Given the description of an element on the screen output the (x, y) to click on. 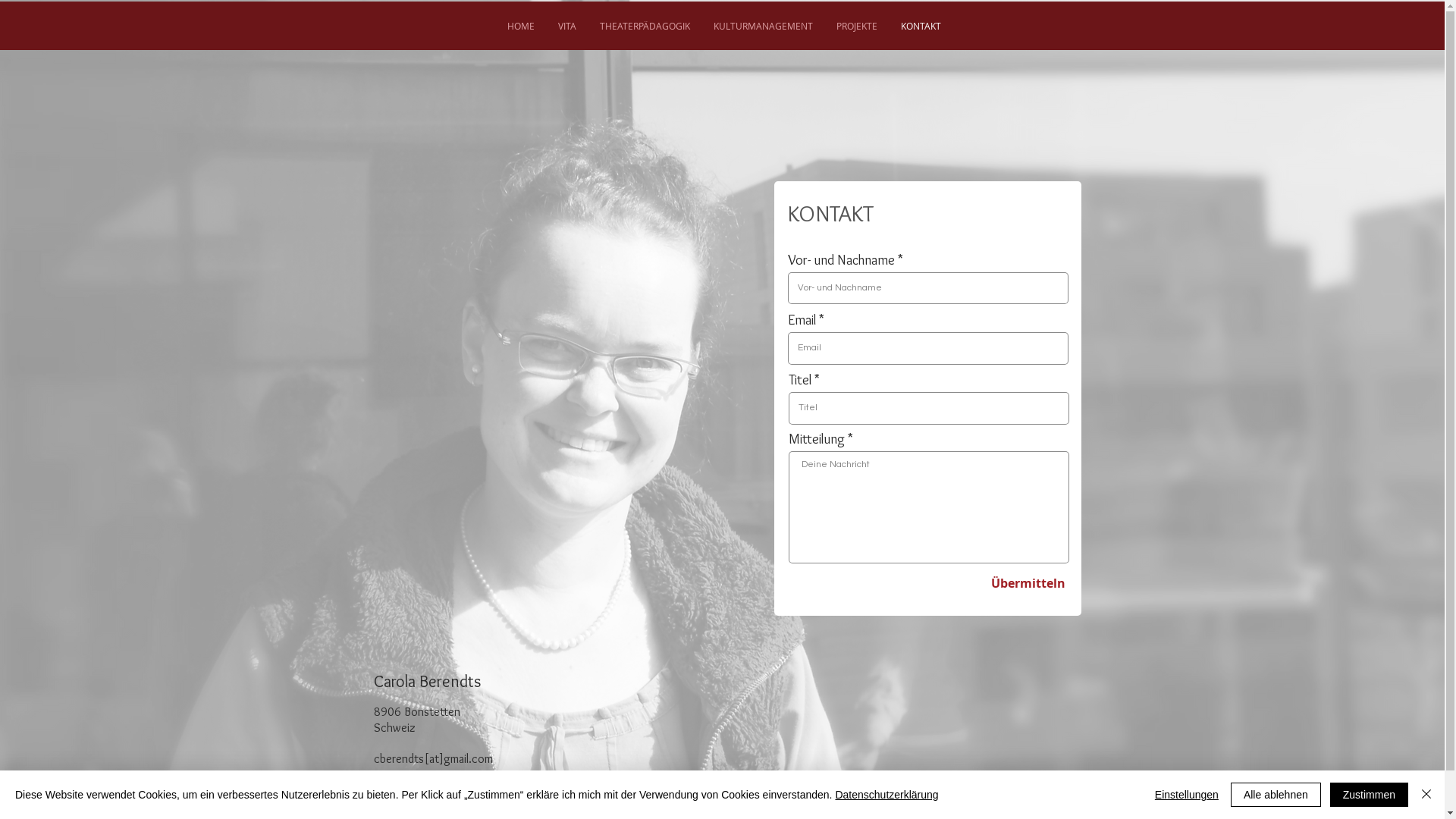
Alle ablehnen Element type: text (1275, 794)
VITA Element type: text (566, 25)
HOME Element type: text (519, 25)
KONTAKT Element type: text (920, 25)
KULTURMANAGEMENT Element type: text (761, 25)
Zustimmen Element type: text (1369, 794)
